Given the description of an element on the screen output the (x, y) to click on. 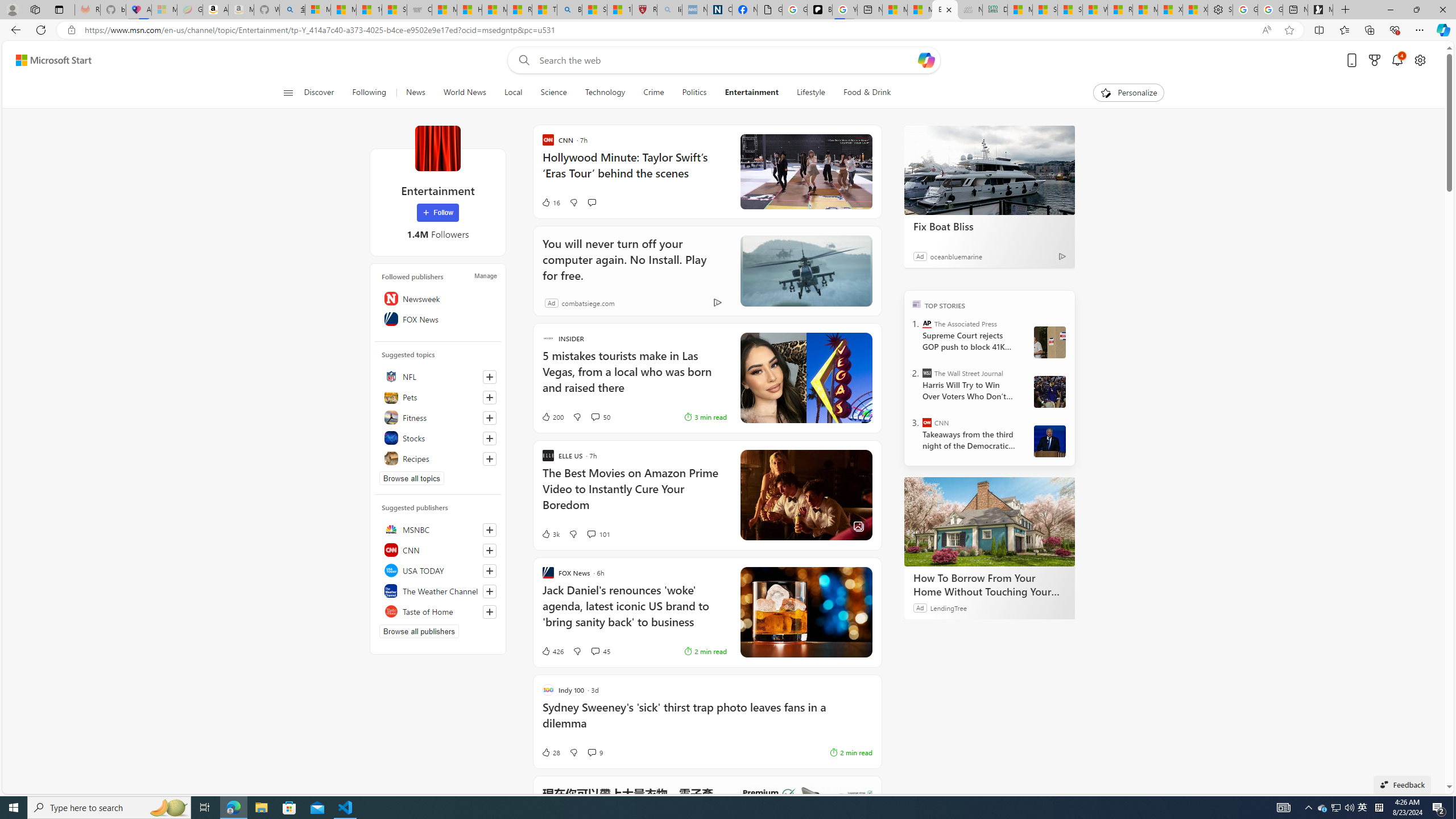
combatsiege.com (588, 302)
